Given the description of an element on the screen output the (x, y) to click on. 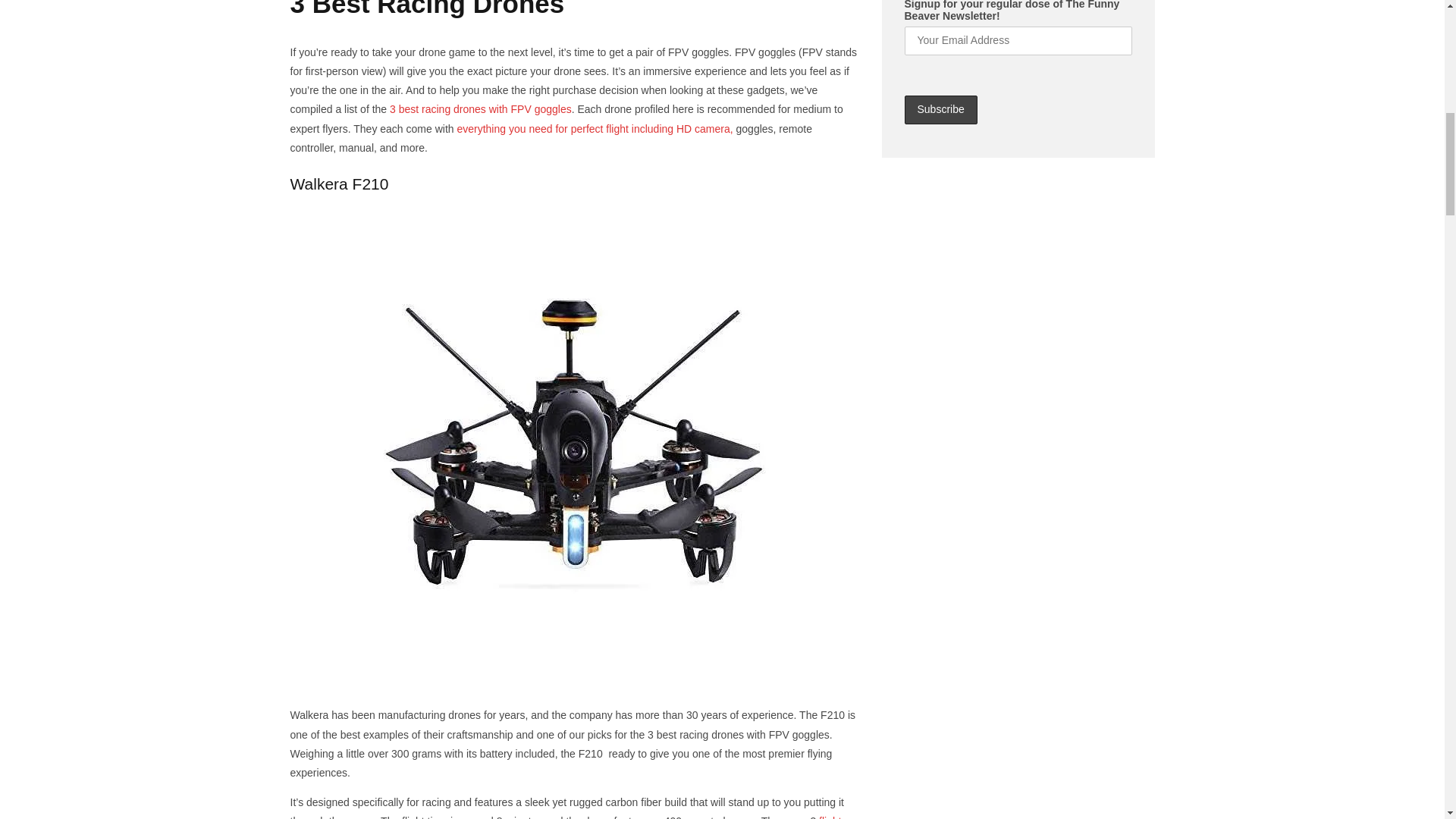
Subscribe (940, 109)
